Given the description of an element on the screen output the (x, y) to click on. 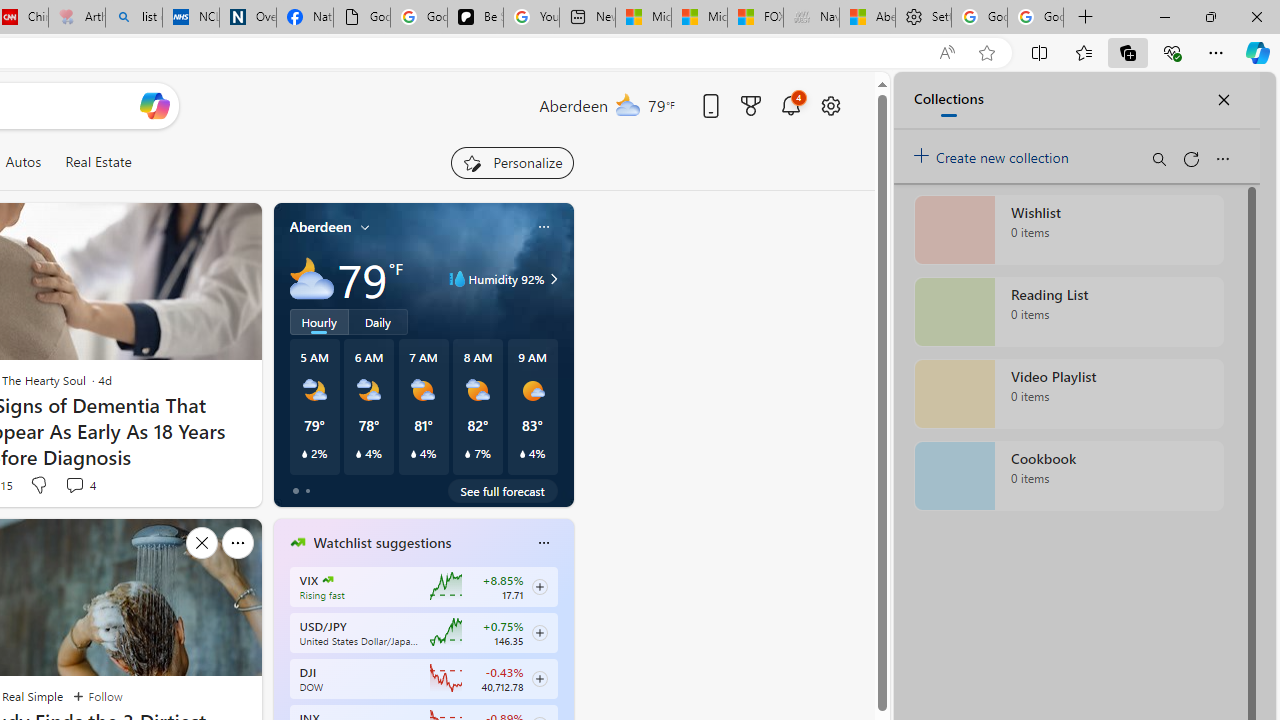
Mostly cloudy (311, 278)
Daily (378, 321)
Humidity 92% (551, 278)
Be Smart | creating Science videos | Patreon (475, 17)
Class: weather-current-precipitation-glyph (522, 453)
